Given the description of an element on the screen output the (x, y) to click on. 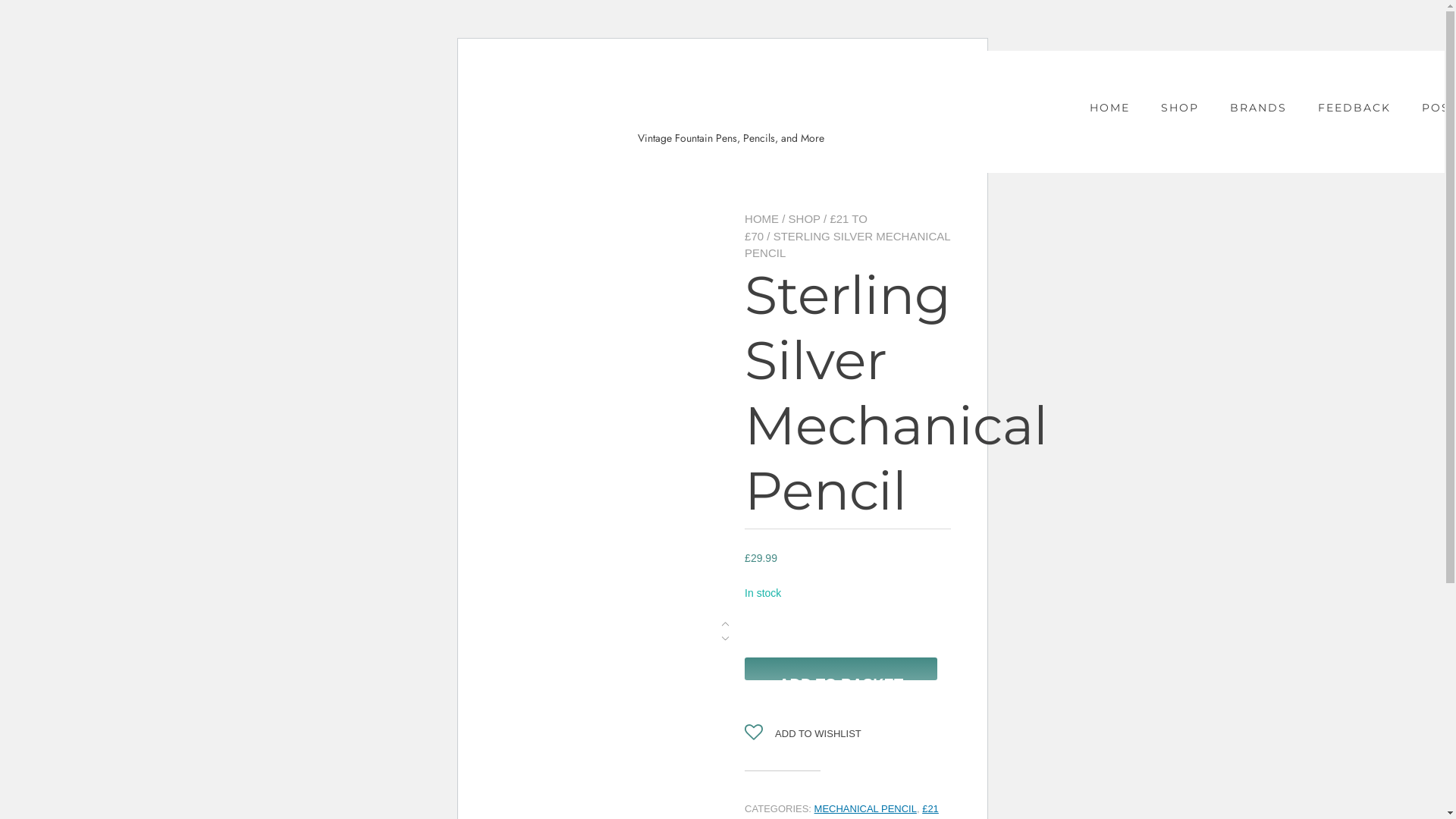
ADD TO WISHLIST Element type: text (802, 733)
MECHANICAL PENCIL Element type: text (865, 808)
HOME Element type: text (1109, 108)
FEEDBACK Element type: text (1353, 108)
HOME Element type: text (761, 218)
Skip to content Element type: text (480, 50)
ADD TO BASKET Element type: text (840, 668)
SHOP Element type: text (804, 218)
SHOP Element type: text (1179, 108)
BRANDS Element type: text (1258, 108)
